Given the description of an element on the screen output the (x, y) to click on. 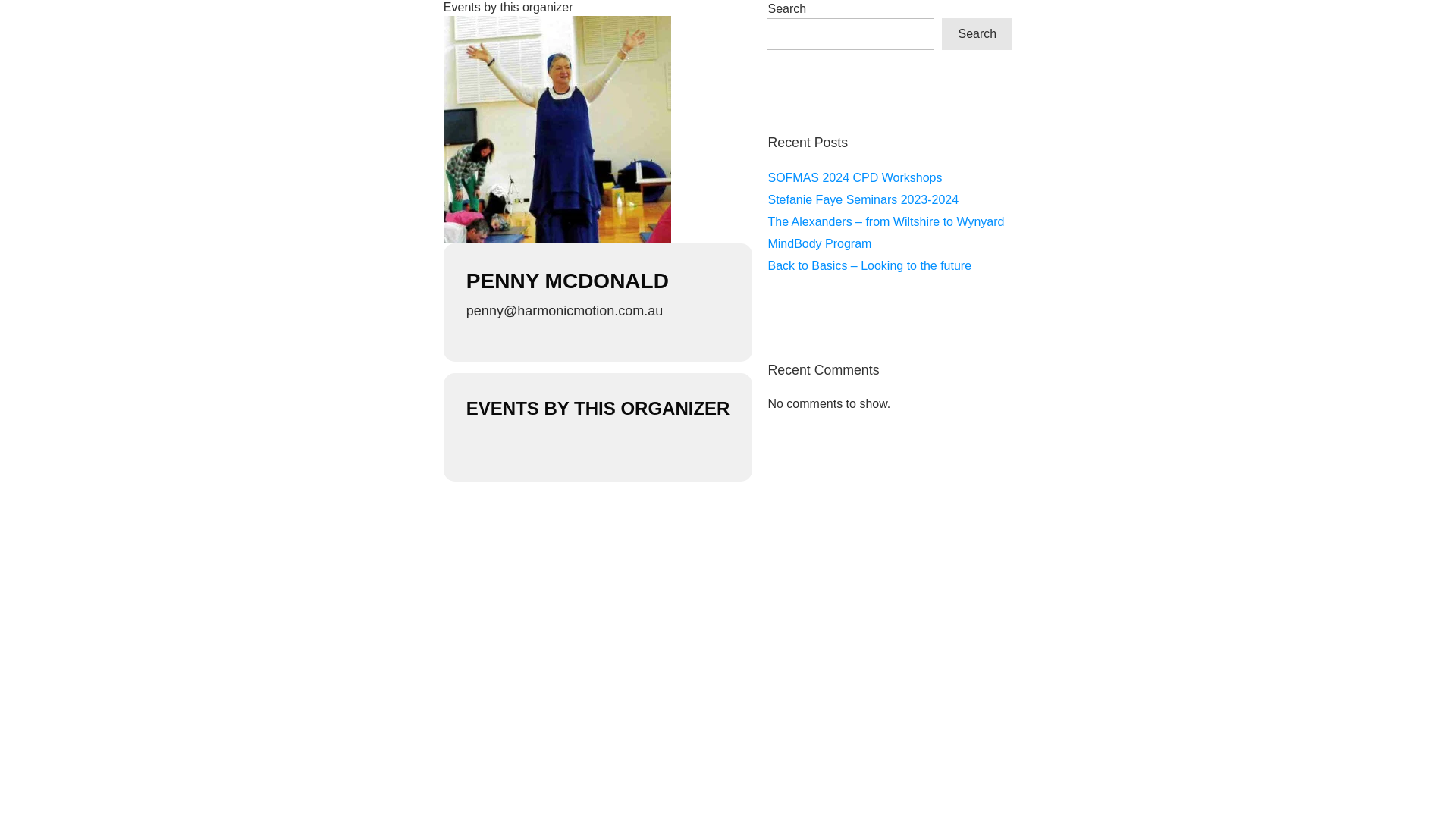
Stefanie Faye Seminars 2023-2024 Element type: text (862, 199)
SOFMAS 2024 CPD Workshops Element type: text (854, 177)
Search Element type: text (976, 34)
MindBody Program Element type: text (819, 243)
